Given the description of an element on the screen output the (x, y) to click on. 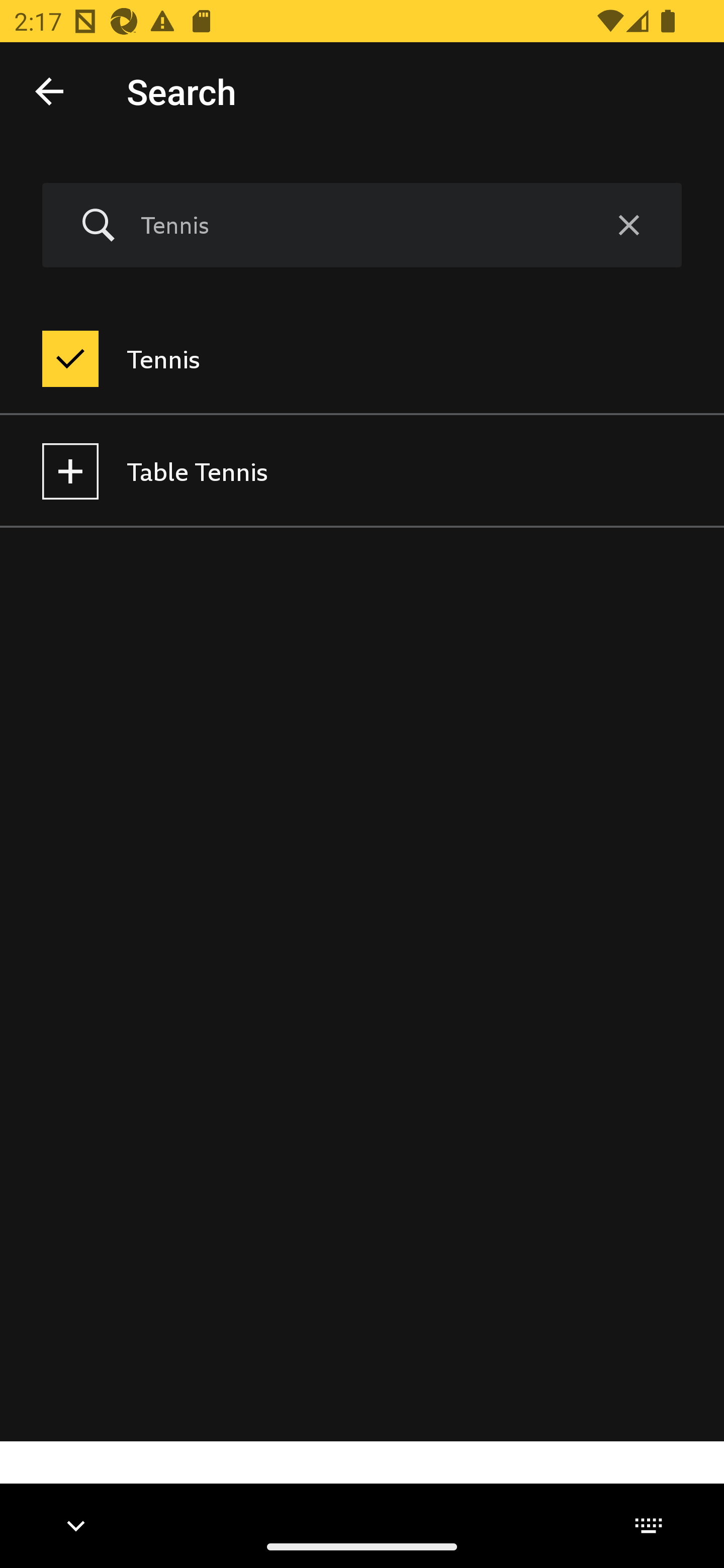
Done (49, 90)
Tennis Clear query (361, 225)
Clear query (628, 225)
Tennis (358, 224)
Tennis (362, 358)
Table Tennis (362, 471)
